Given the description of an element on the screen output the (x, y) to click on. 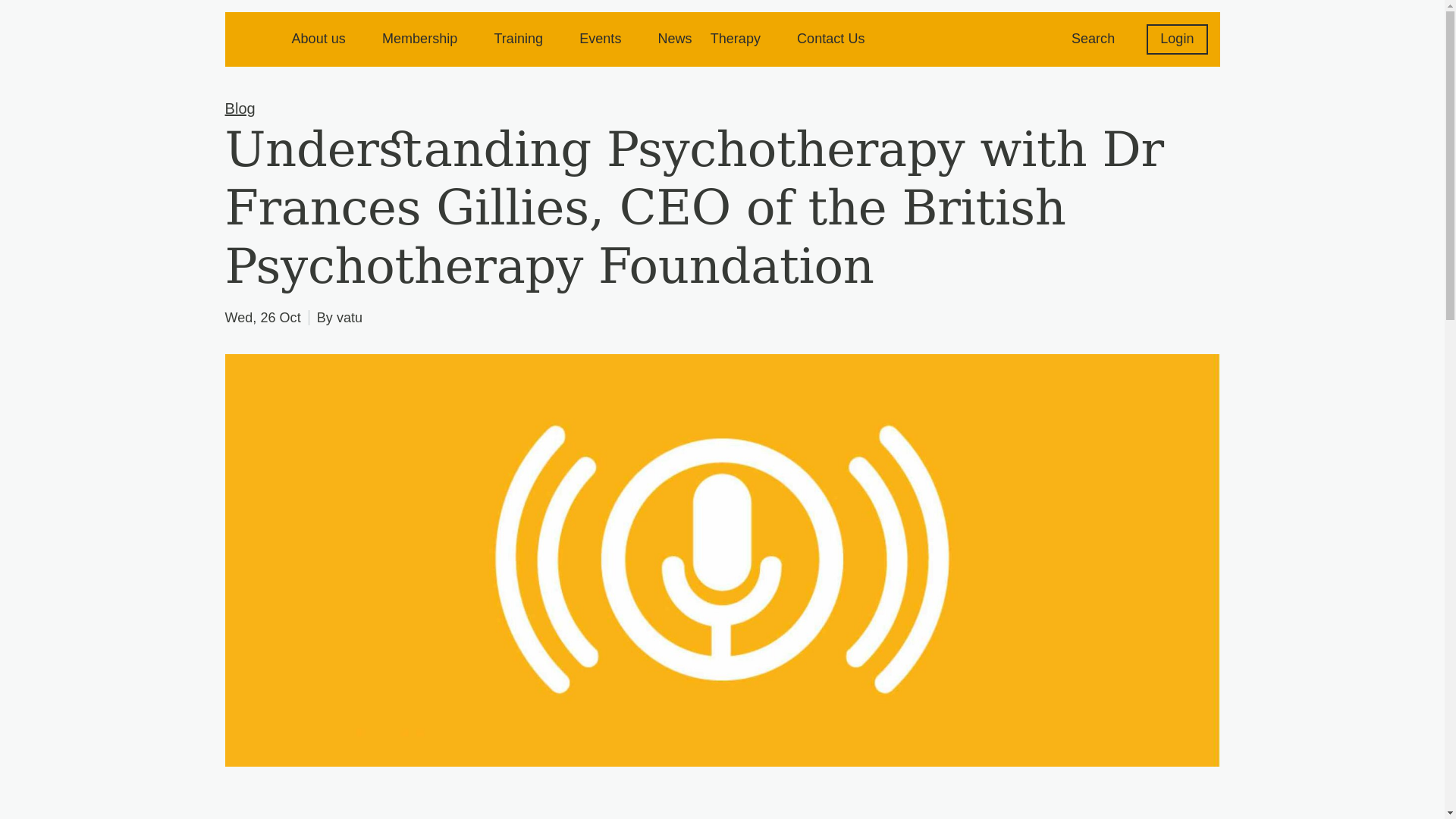
Training (518, 38)
About us (318, 38)
Events (600, 38)
News (674, 38)
The British Psychotheraphy Foundation (254, 36)
Membership (419, 38)
